Given the description of an element on the screen output the (x, y) to click on. 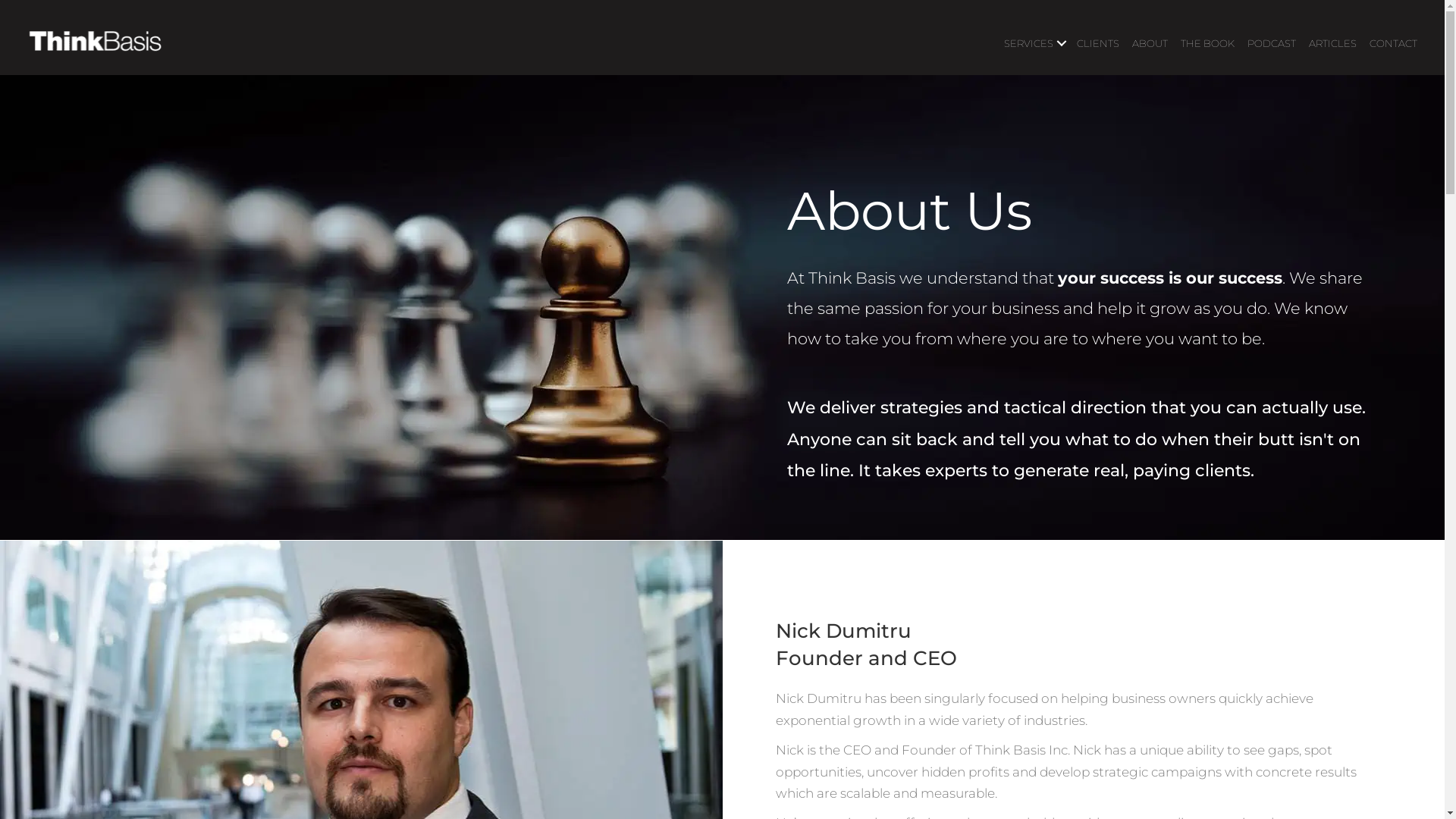
ARTICLES Element type: text (1332, 43)
SERVICES Element type: text (1033, 43)
CLIENTS Element type: text (1097, 43)
ABOUT Element type: text (1149, 43)
THE BOOK Element type: text (1207, 43)
CONTACT Element type: text (1393, 43)
PODCAST Element type: text (1271, 43)
